Given the description of an element on the screen output the (x, y) to click on. 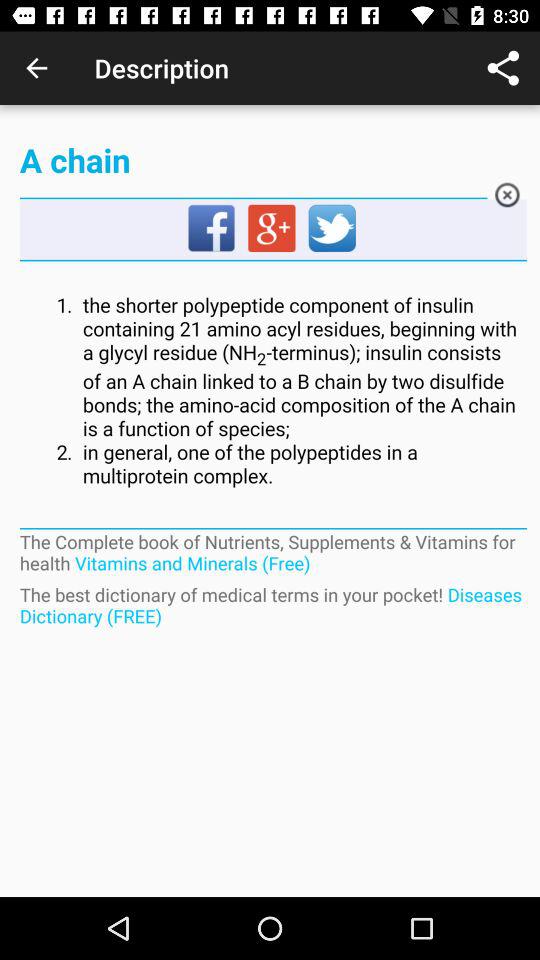
share via facebook (212, 229)
